Given the description of an element on the screen output the (x, y) to click on. 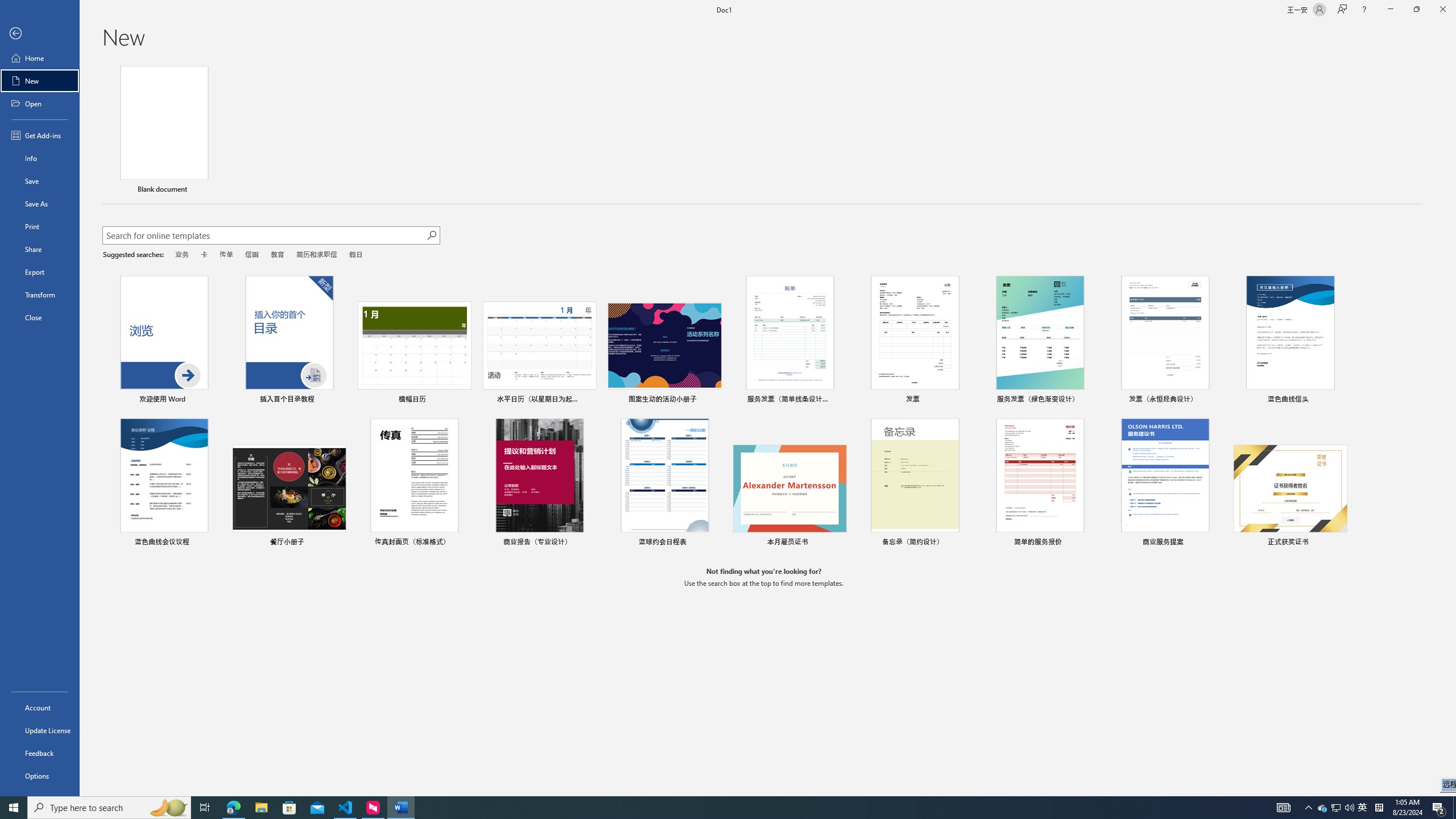
Get Add-ins (40, 134)
Feedback (40, 753)
Search for online templates (264, 237)
Blank document (164, 131)
Print (40, 225)
New (40, 80)
Open (40, 102)
